Given the description of an element on the screen output the (x, y) to click on. 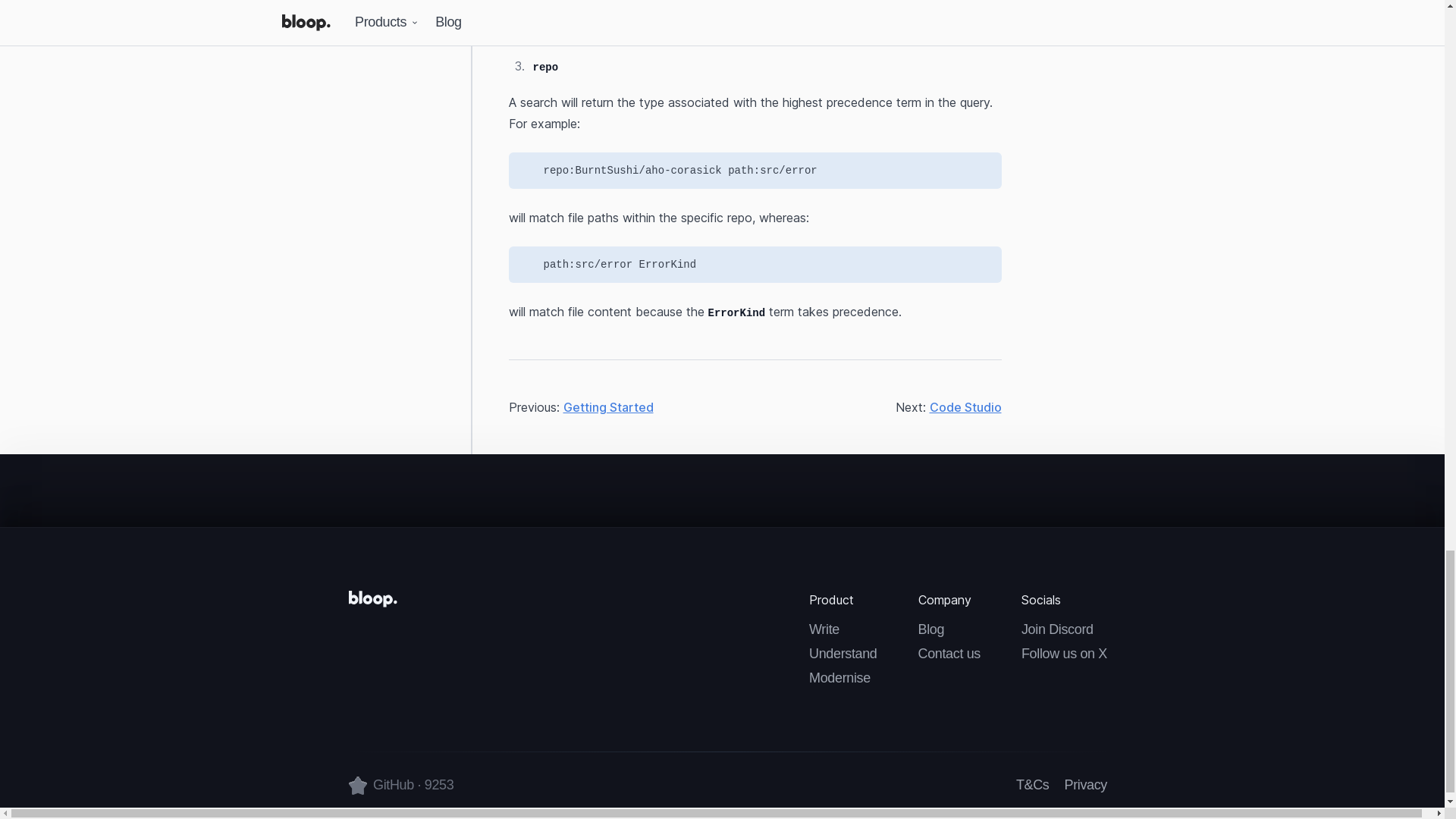
Blog (948, 629)
Modernise (842, 678)
Getting Started (607, 406)
Code Studio (965, 406)
Join Discord (1064, 629)
Follow us on X (1064, 654)
Write (842, 629)
Contact us (948, 654)
Privacy (1086, 785)
Understand (842, 654)
